Given the description of an element on the screen output the (x, y) to click on. 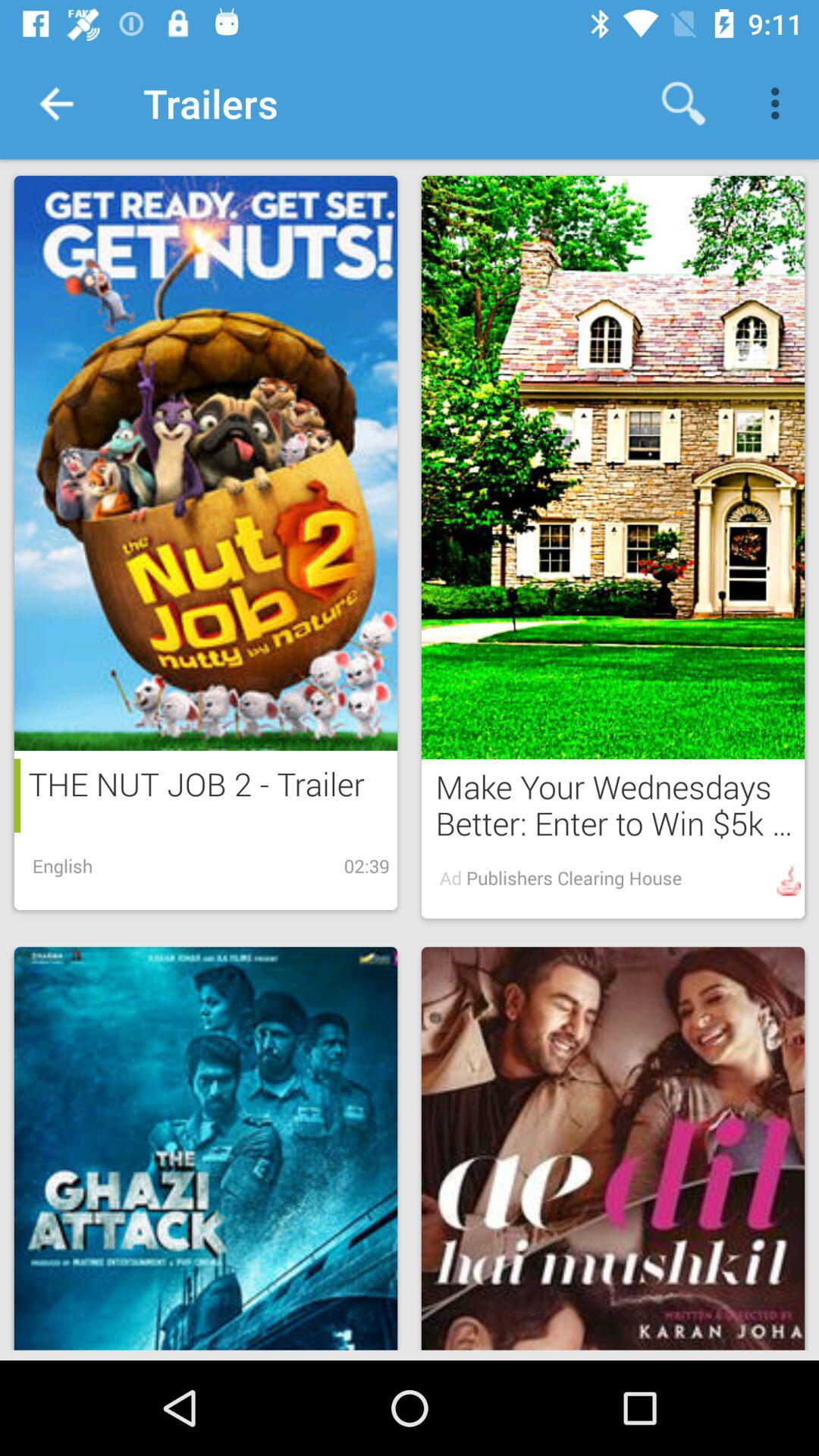
select icon to the left of trailers  item (55, 103)
